Given the description of an element on the screen output the (x, y) to click on. 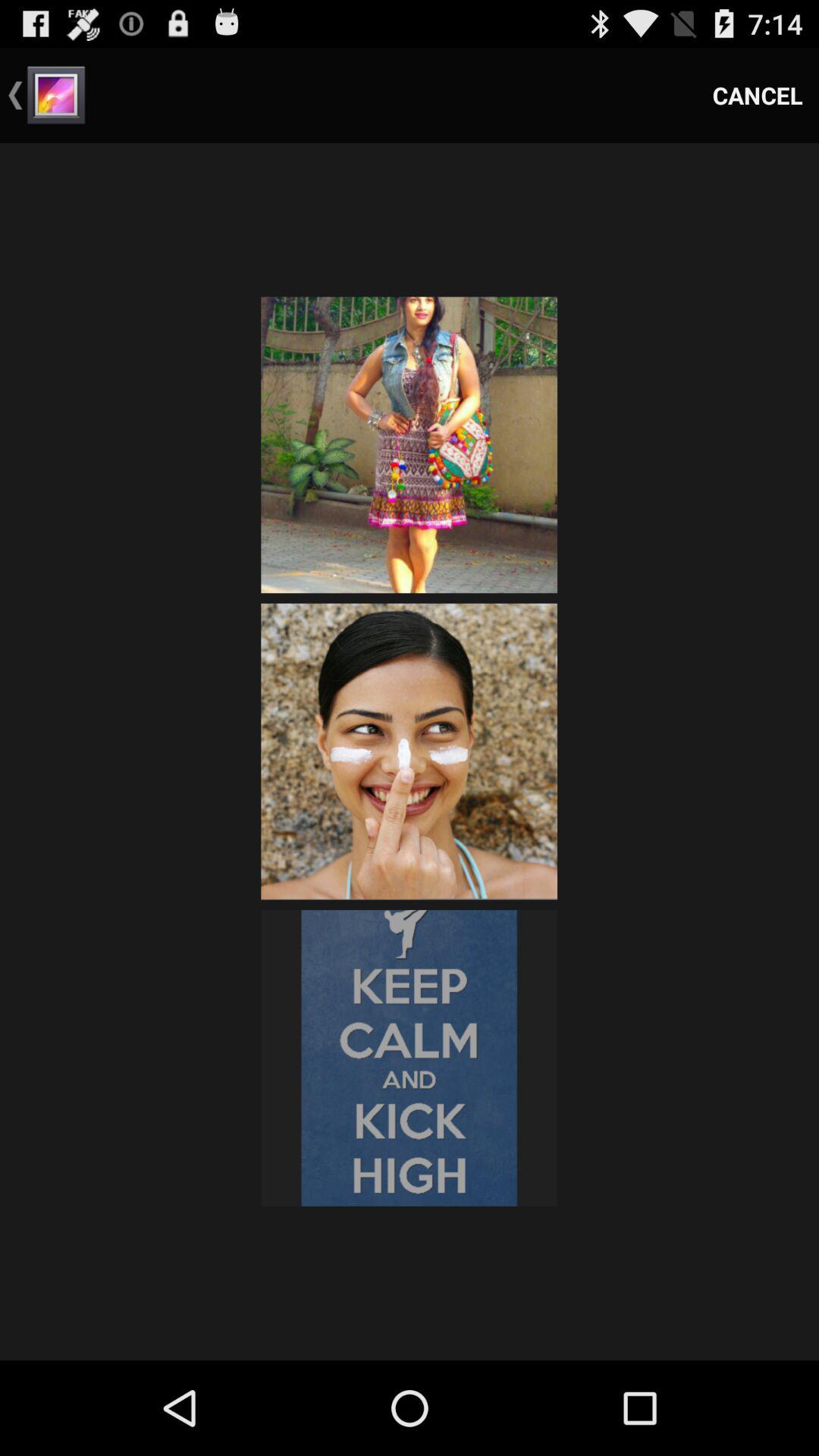
turn off the icon at the top right corner (757, 95)
